Given the description of an element on the screen output the (x, y) to click on. 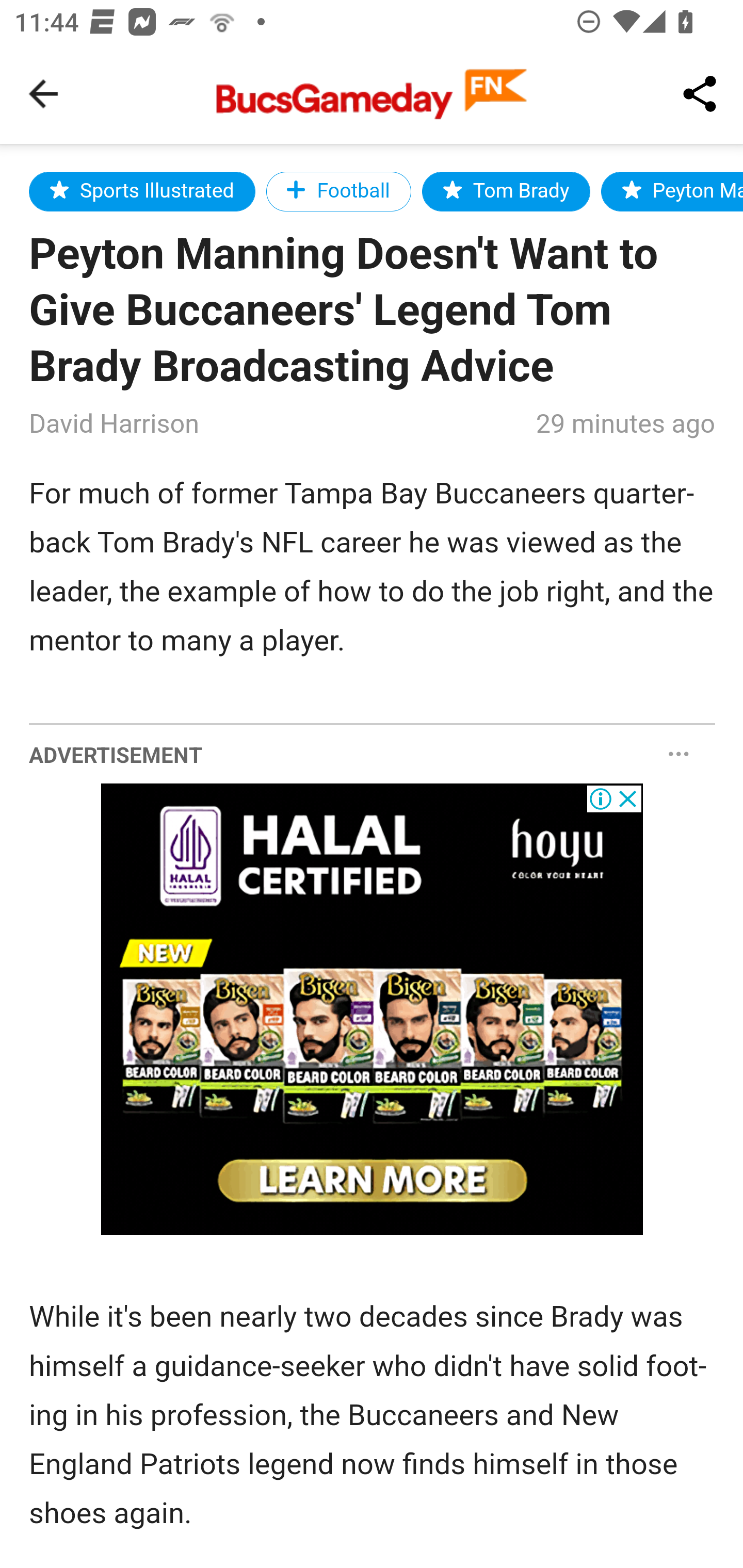
Sports Illustrated (142, 191)
Football (338, 191)
Tom Brady (506, 191)
